Given the description of an element on the screen output the (x, y) to click on. 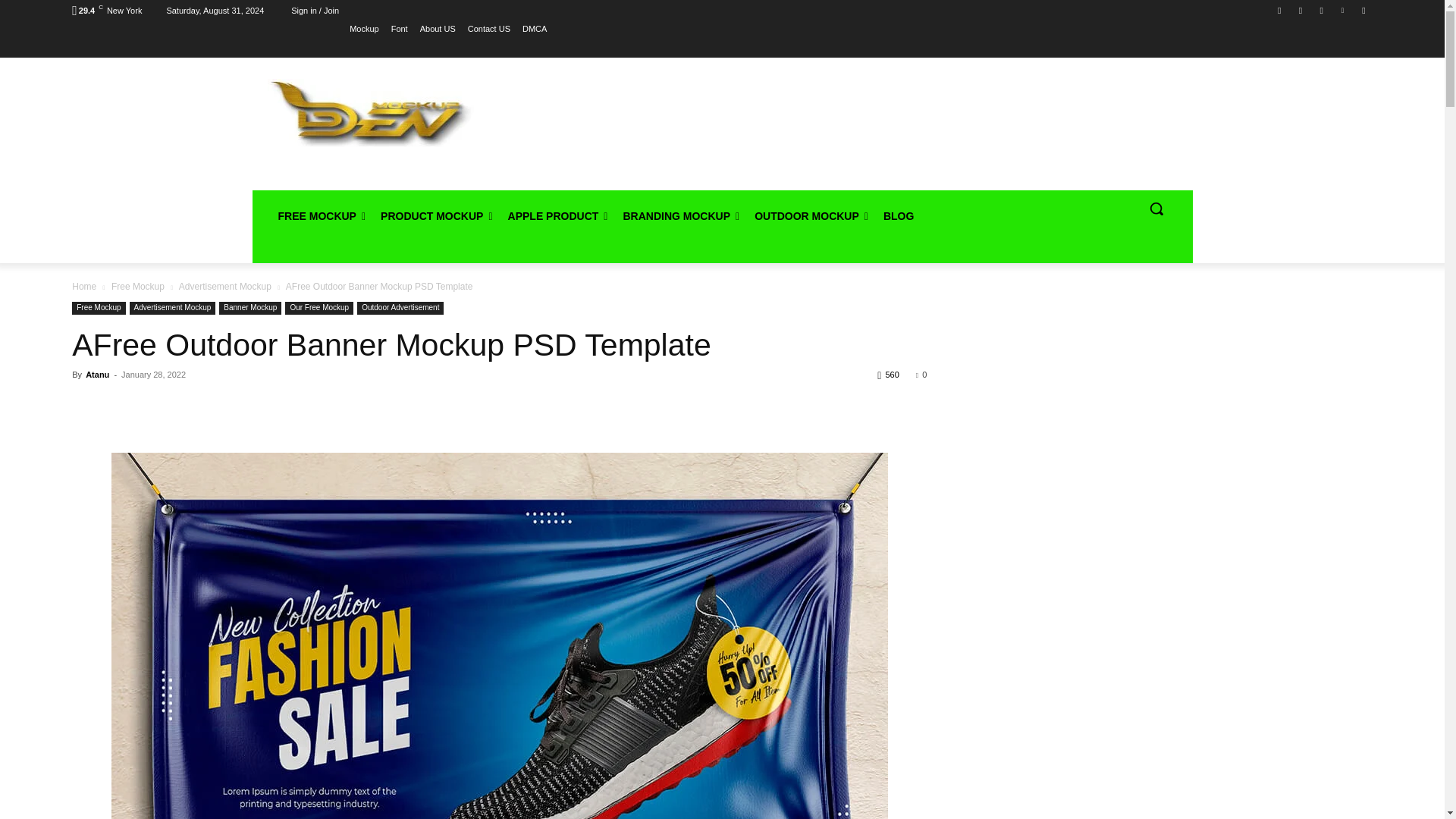
Vimeo (1342, 9)
Contact US (489, 28)
DMCA (534, 28)
View all posts in Advertisement Mockup (224, 286)
Twitter (1321, 9)
Facebook (1279, 9)
Youtube (1364, 9)
About US (437, 28)
View all posts in Free Mockup (138, 286)
FREE MOCKUP (320, 215)
